Given the description of an element on the screen output the (x, y) to click on. 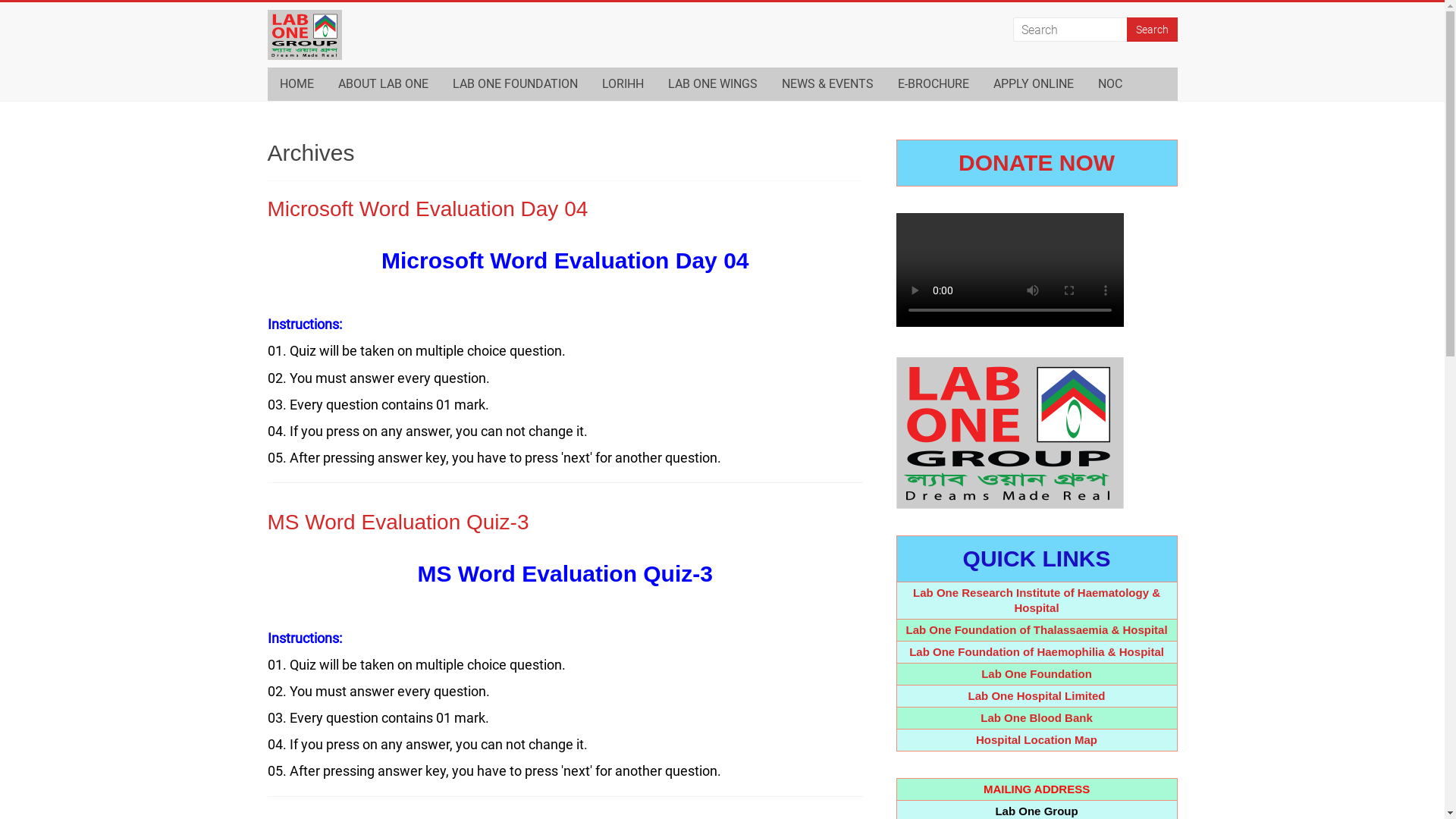
LAB ONE WINGS Element type: text (711, 83)
Lab One Foundation of Thalassaemia & Hospital Element type: text (1036, 629)
Lab One Foundation of Haemophilia & Hospital Element type: text (1036, 651)
Microsoft Word Evaluation Day 04 Element type: text (426, 208)
Hospital Location Map Element type: text (1036, 739)
E-BROCHURE Element type: text (933, 83)
HOME Element type: text (295, 83)
Lab One Research Institute of Haematology & Hospital Element type: text (1036, 600)
ABOUT LAB ONE Element type: text (383, 83)
MS Word Evaluation Quiz-3 Element type: text (397, 521)
NEWS & EVENTS Element type: text (826, 83)
Search Element type: text (1151, 29)
NOC Element type: text (1109, 83)
LORIHH Element type: text (622, 83)
Lab One Blood Bank Element type: text (1036, 717)
APPLY ONLINE Element type: text (1033, 83)
DONATE NOW Element type: text (1036, 162)
Lab One Foundation Element type: text (1036, 673)
LAB ONE FOUNDATION Element type: text (514, 83)
Lab One Hospital Limited Element type: text (1036, 695)
